Given the description of an element on the screen output the (x, y) to click on. 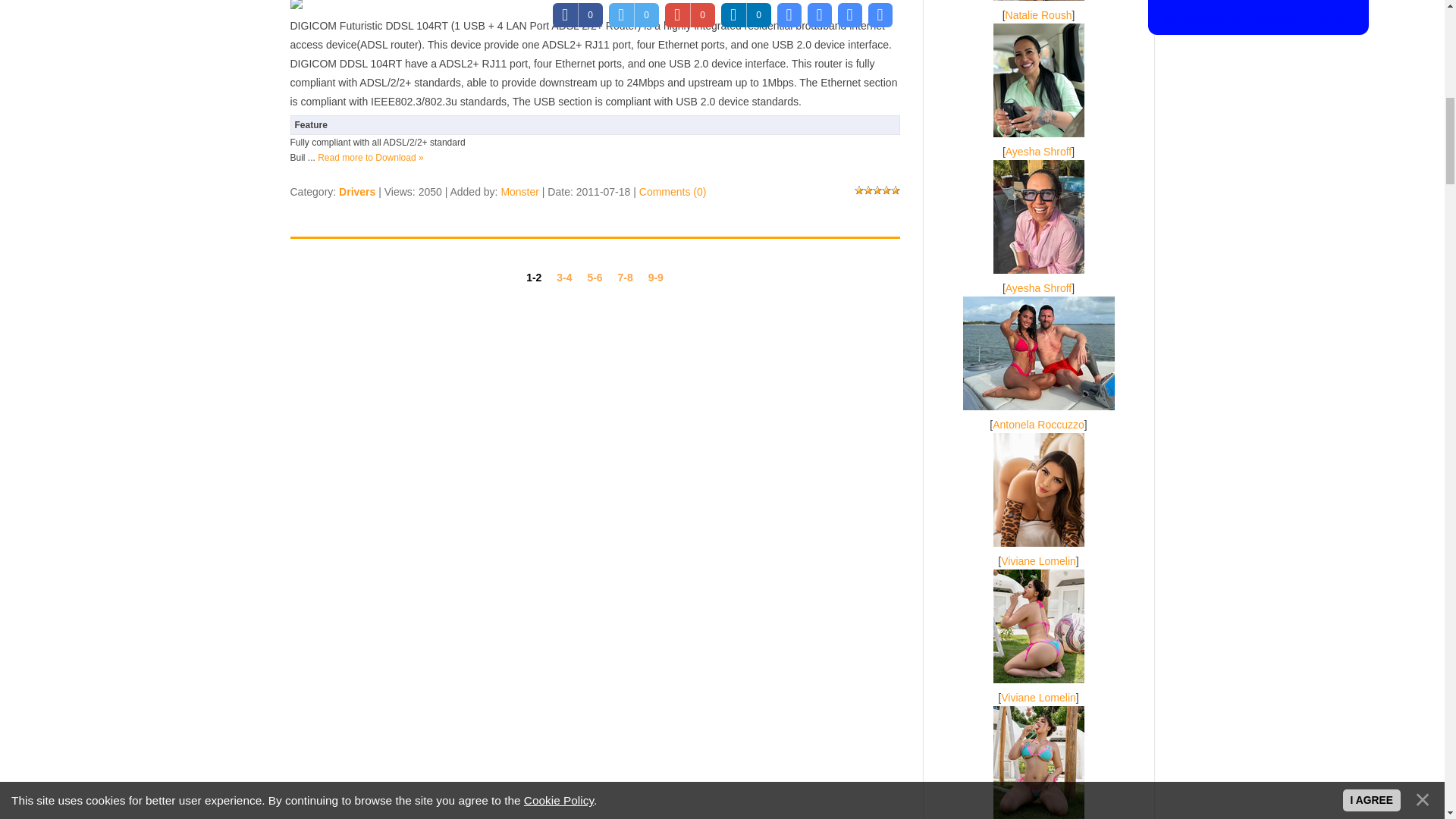
Antonela Roccuzzo in bikini with injured Messi (1038, 353)
9-9 (655, 276)
Drivers (357, 191)
Monster (519, 191)
5-6 (594, 276)
7-8 (625, 276)
3-4 (564, 276)
10:42 PM (603, 191)
